Given the description of an element on the screen output the (x, y) to click on. 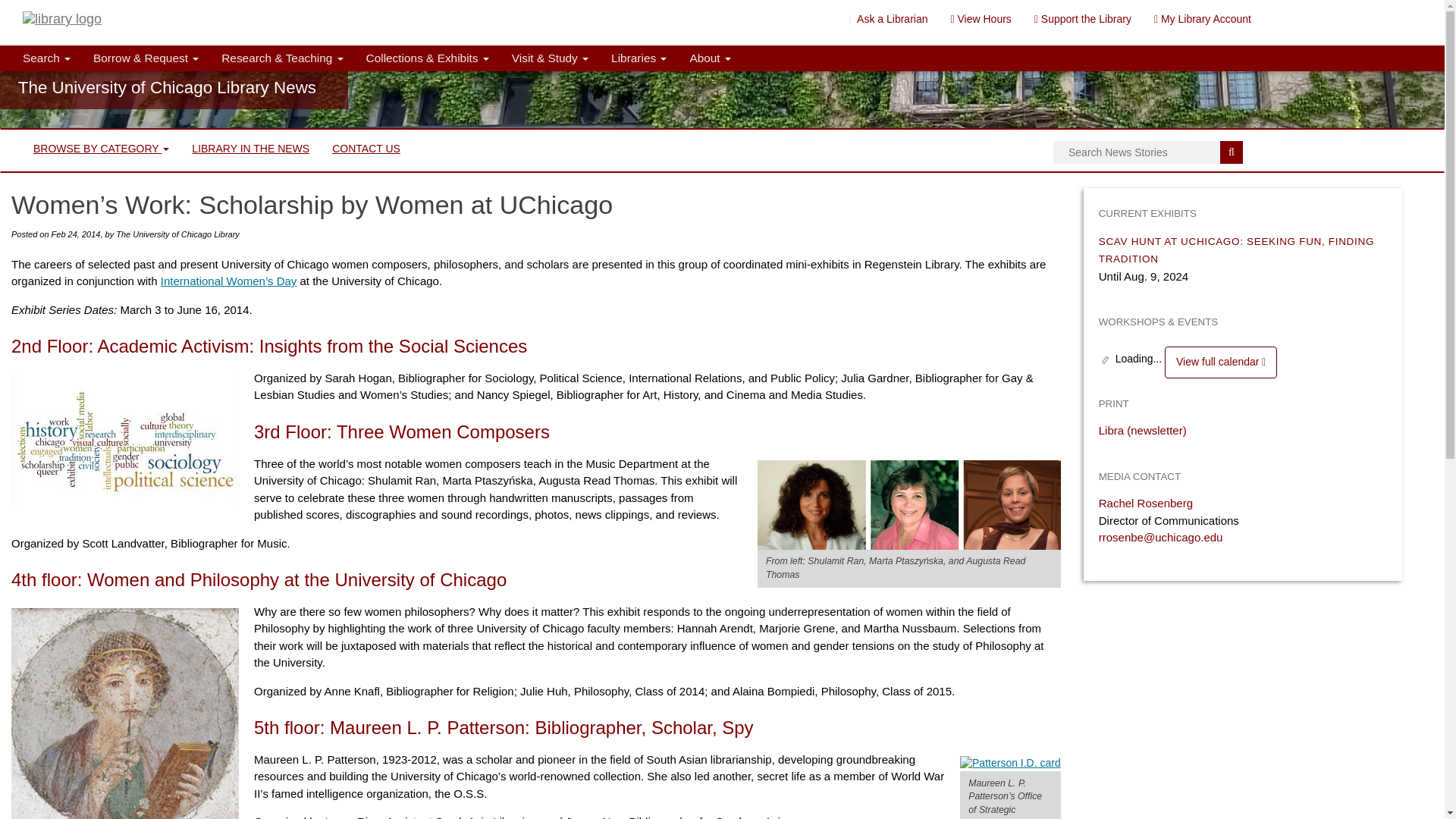
search news (1147, 151)
Support the Library (1082, 18)
My Library Account (1202, 18)
Search (1231, 151)
Search (1231, 151)
Ask a Librarian (888, 18)
View Hours (980, 18)
Search (46, 58)
